Given the description of an element on the screen output the (x, y) to click on. 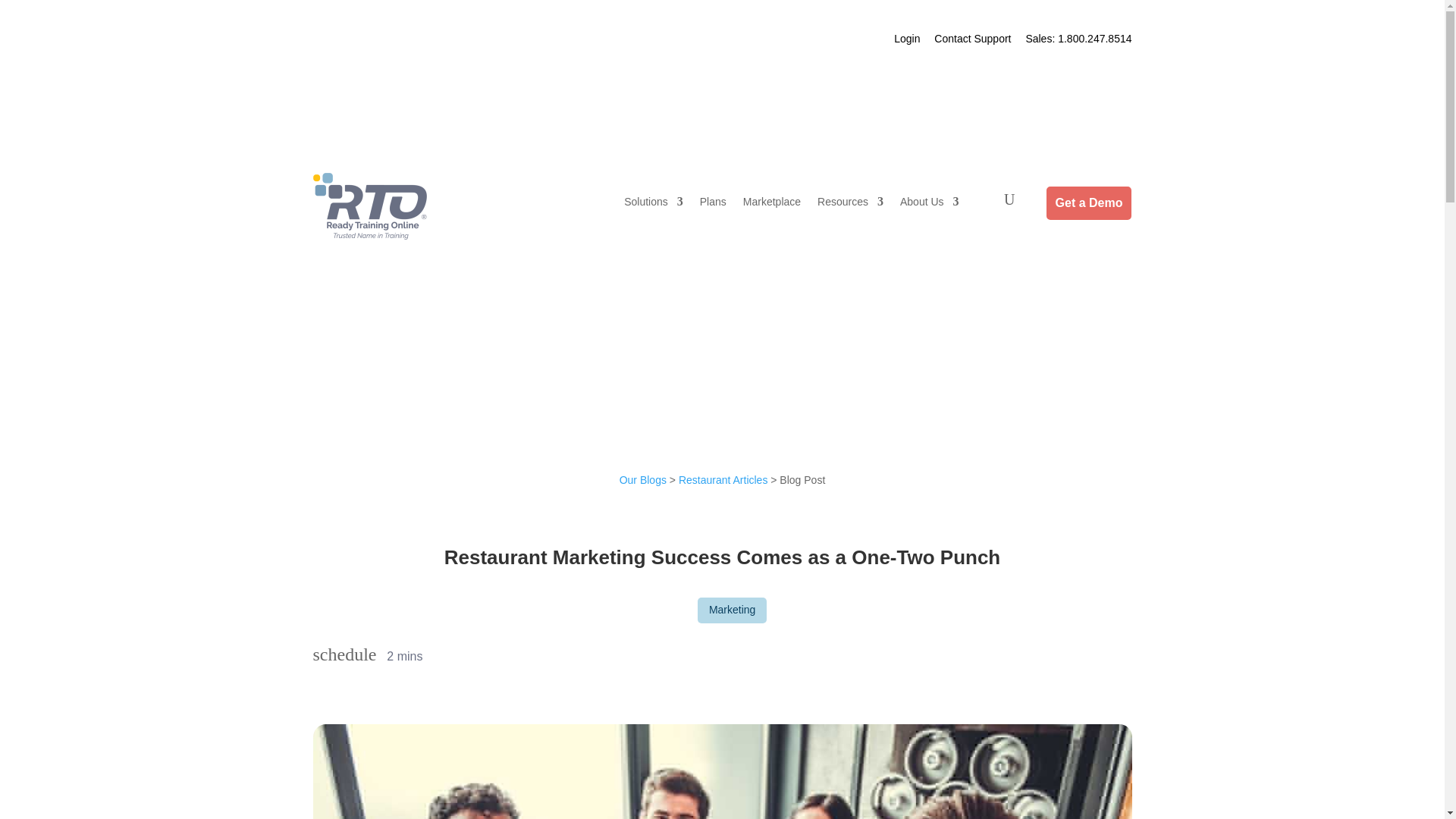
Contact Support (972, 38)
Resources (849, 204)
Solutions (653, 204)
About Us (929, 204)
Login (906, 38)
Marketing (732, 610)
Sales: 1.800.247.8514 (1078, 38)
Restaurant Marketing Ideas That Work (722, 771)
Search (1106, 154)
Marketplace (771, 204)
